Given the description of an element on the screen output the (x, y) to click on. 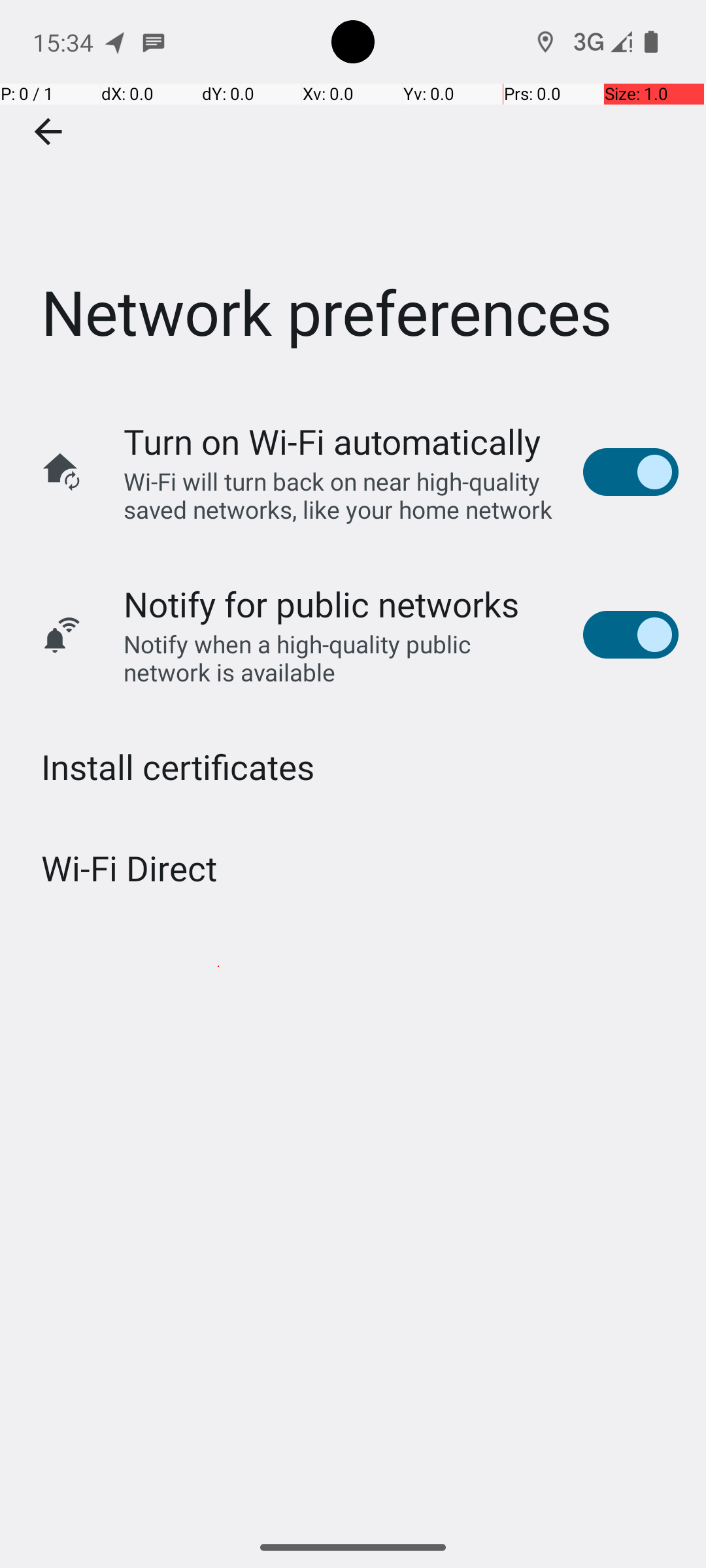
Network preferences Element type: android.widget.FrameLayout (353, 195)
Turn on Wi‑Fi automatically Element type: android.widget.TextView (332, 441)
Wi‑Fi will turn back on near high‑quality saved networks, like your home network Element type: android.widget.TextView (339, 494)
Notify for public networks Element type: android.widget.TextView (321, 603)
Notify when a high‑quality public network is available Element type: android.widget.TextView (339, 657)
Install certificates Element type: android.widget.TextView (178, 766)
Wi‑Fi Direct Element type: android.widget.TextView (129, 867)
